Given the description of an element on the screen output the (x, y) to click on. 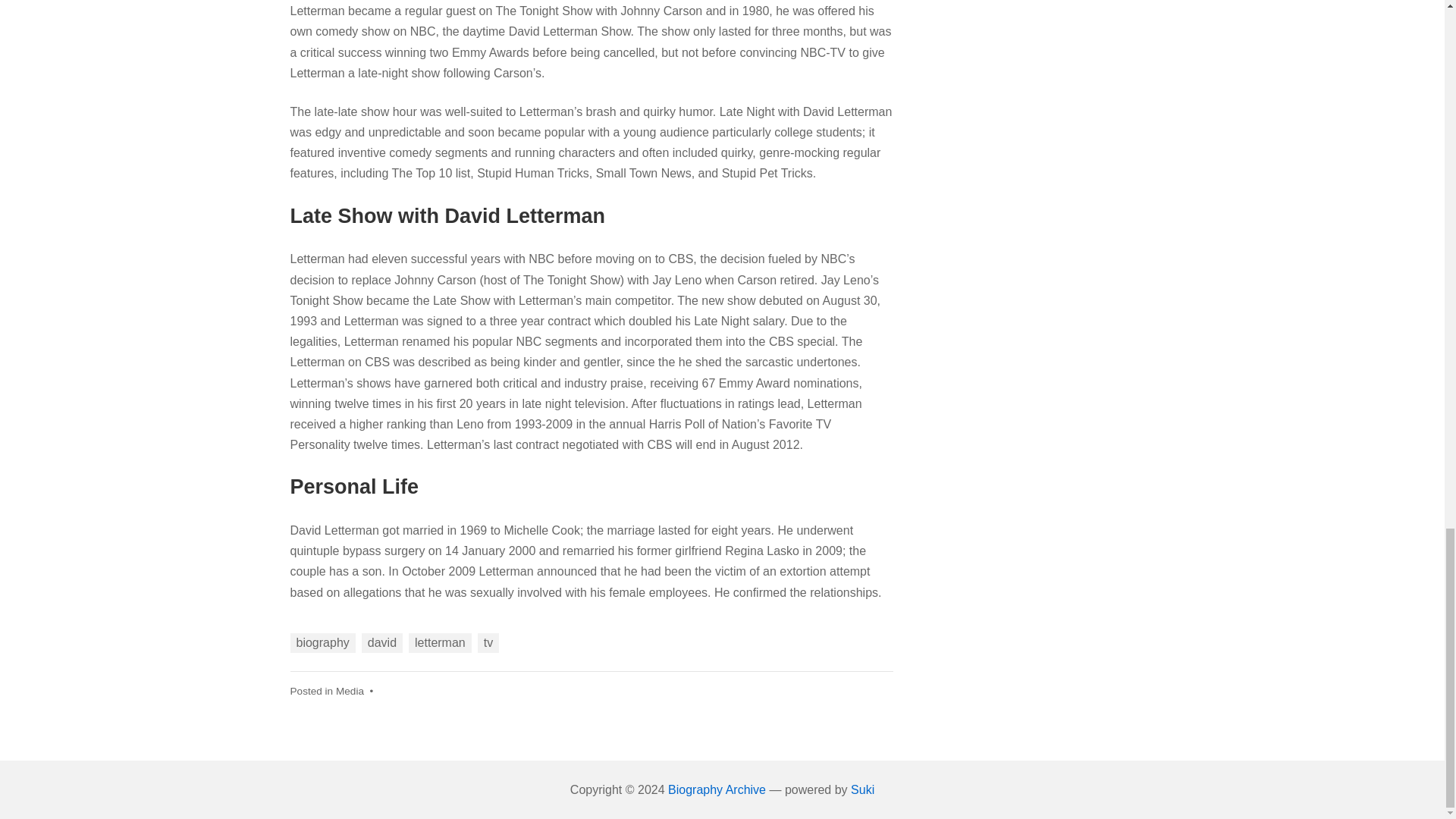
tv (488, 642)
Biography Archive (716, 789)
david (382, 642)
letterman (440, 642)
Media (350, 690)
biography (322, 642)
